Given the description of an element on the screen output the (x, y) to click on. 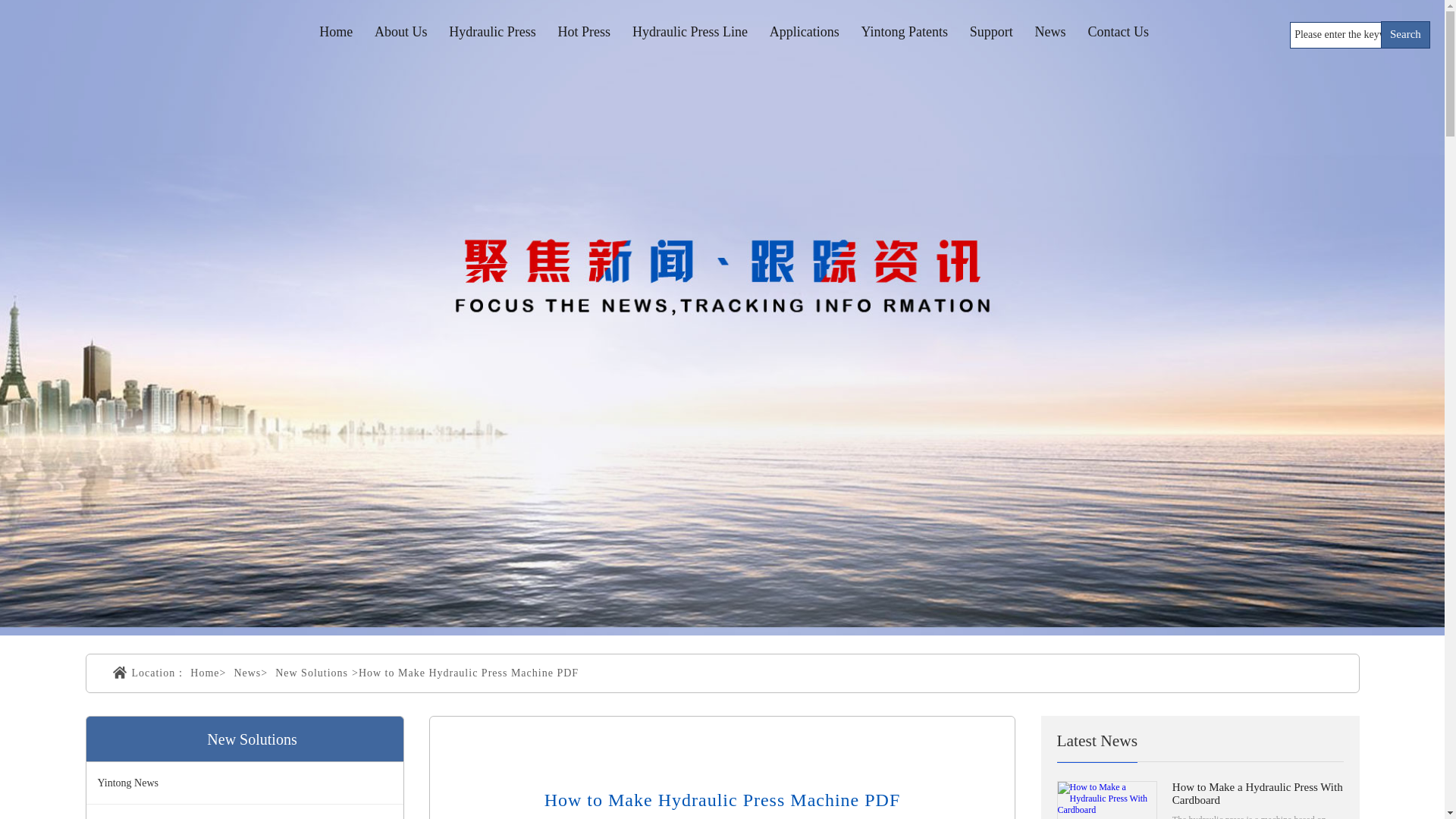
Please enter the keywords (1337, 34)
About Us (401, 31)
Hydraulic Press Line (689, 31)
Applications (805, 31)
Search (1404, 34)
Hydraulic Press (491, 31)
Hot Press (584, 31)
Home (335, 31)
